Given the description of an element on the screen output the (x, y) to click on. 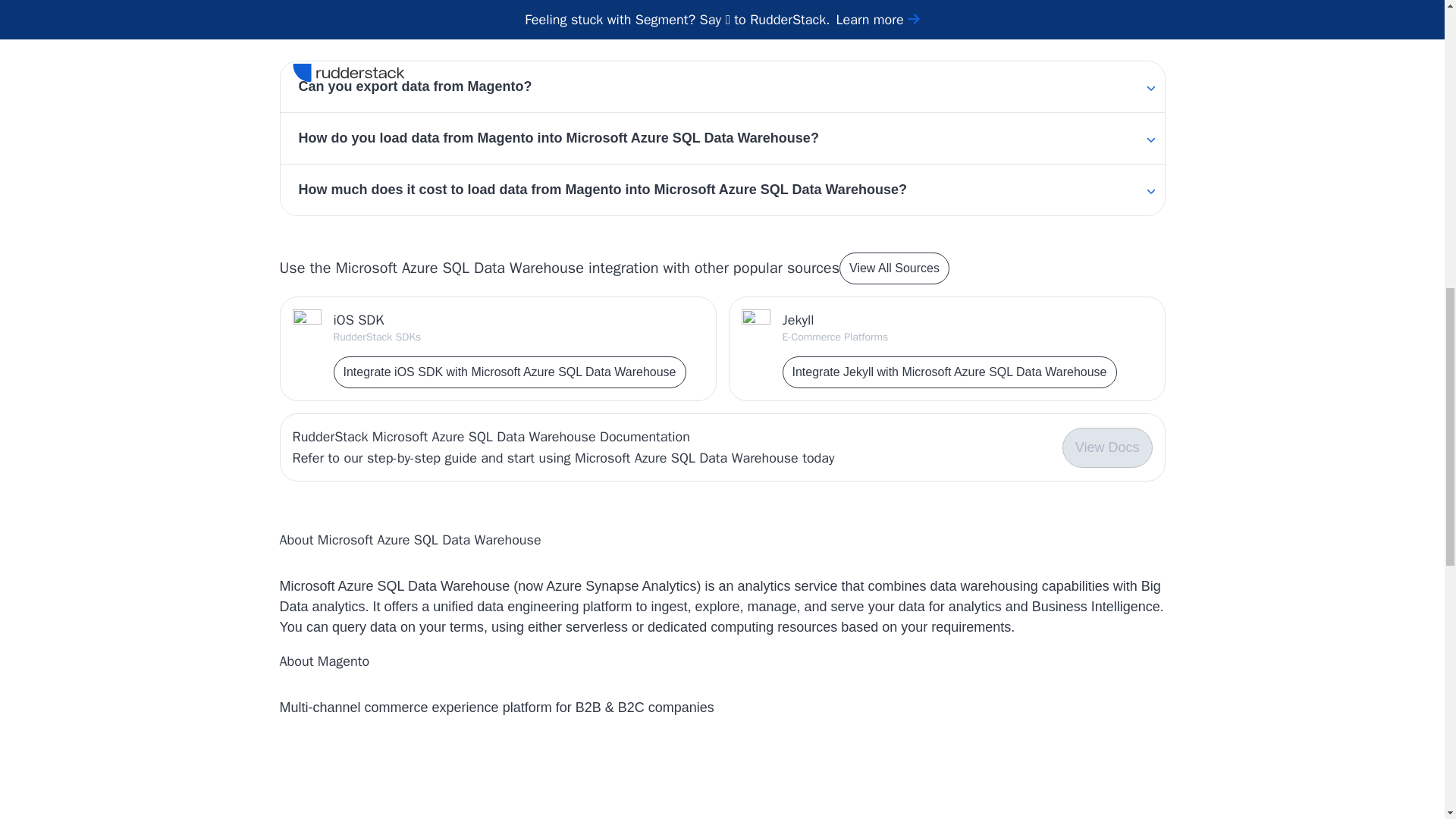
Integrate Jekyll with Microsoft Azure SQL Data Warehouse (949, 372)
View All Sources (894, 268)
Integrate iOS SDK with Microsoft Azure SQL Data Warehouse (509, 372)
View Docs (1107, 447)
Jekyll (949, 319)
iOS SDK (509, 319)
